Given the description of an element on the screen output the (x, y) to click on. 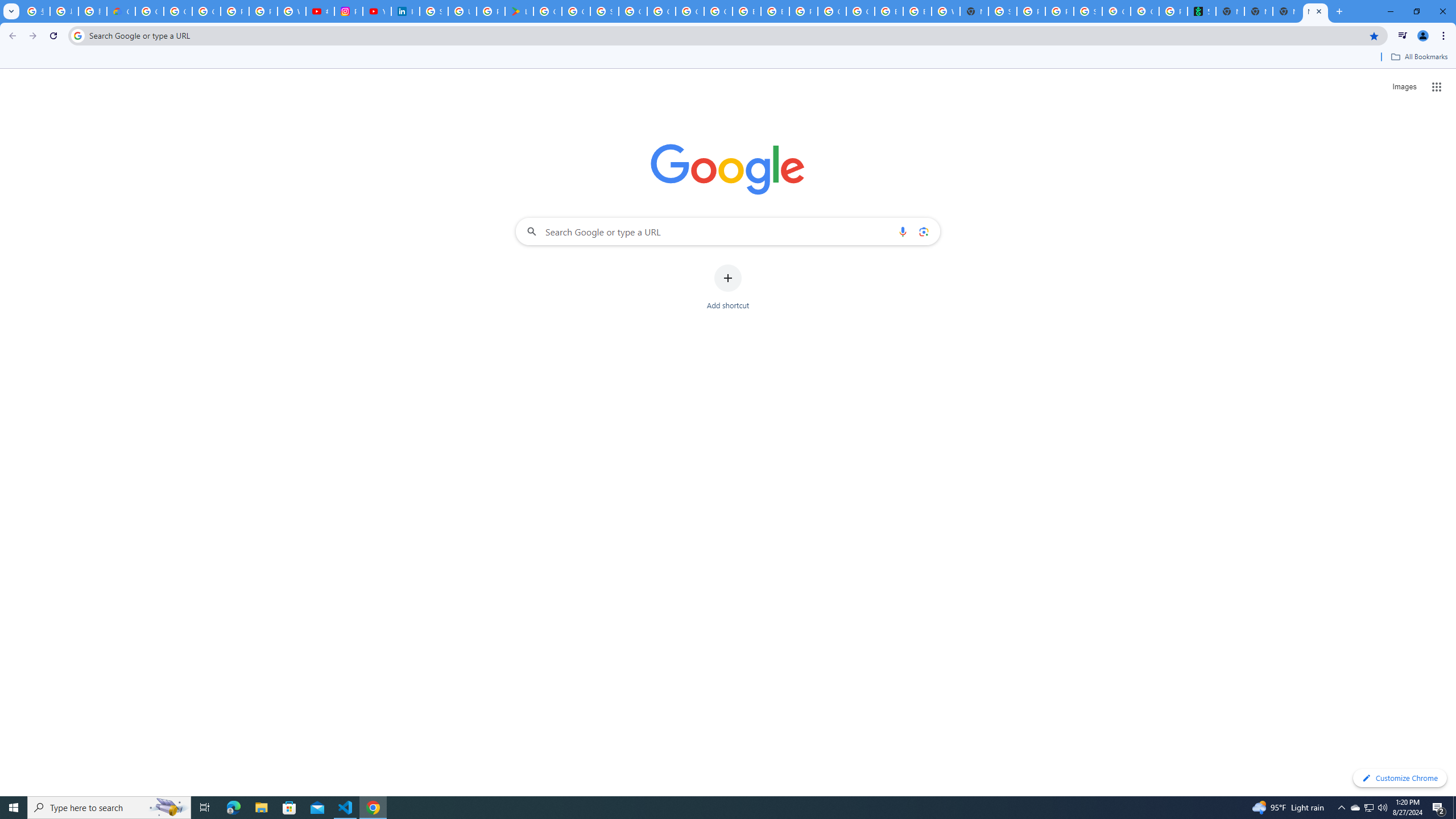
Sign in - Google Accounts (433, 11)
Browse Chrome as a guest - Computer - Google Chrome Help (888, 11)
Google Cloud Platform (860, 11)
Privacy Help Center - Policies Help (263, 11)
Last Shelter: Survival - Apps on Google Play (518, 11)
